Given the description of an element on the screen output the (x, y) to click on. 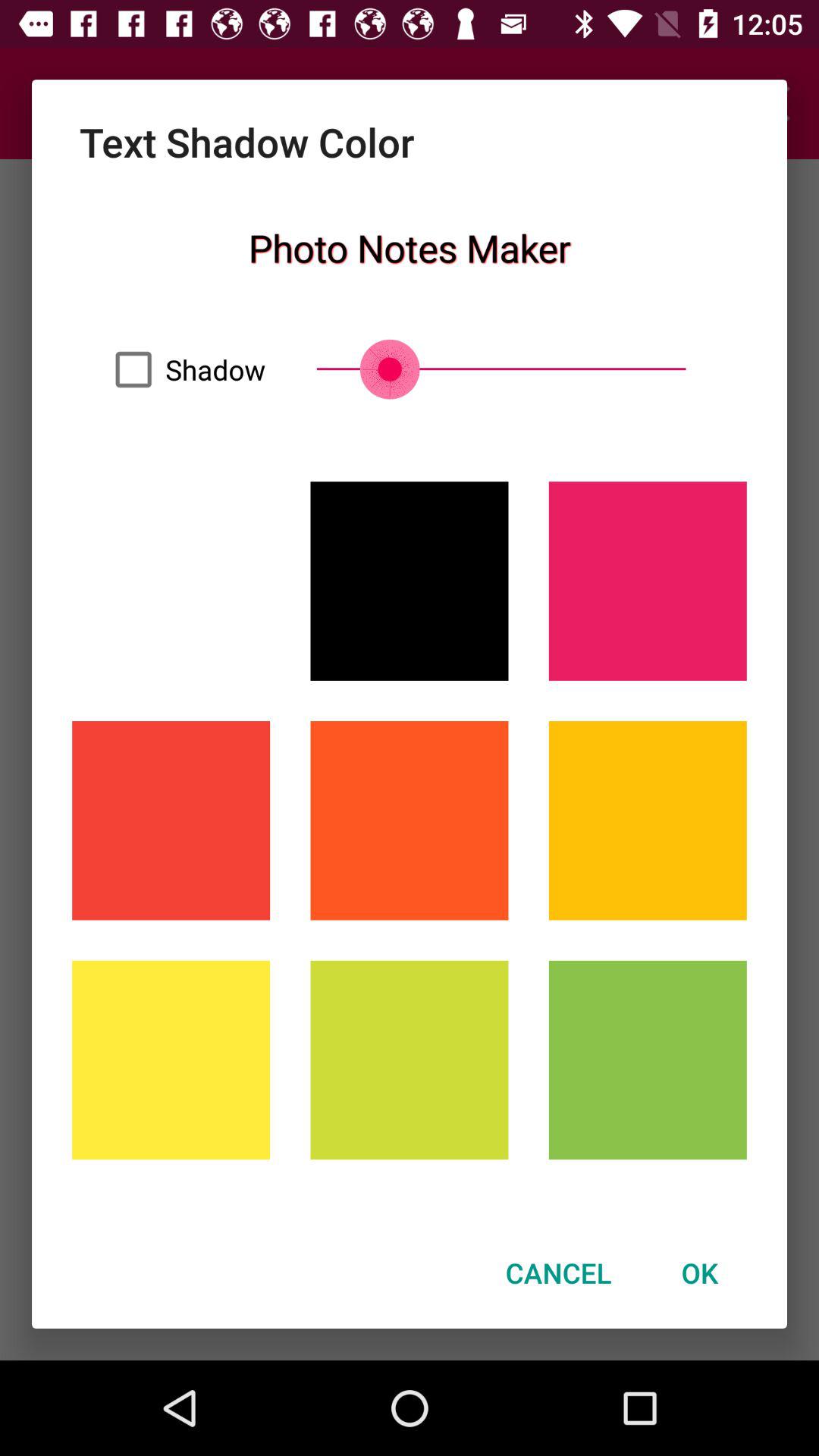
open the cancel icon (558, 1272)
